Given the description of an element on the screen output the (x, y) to click on. 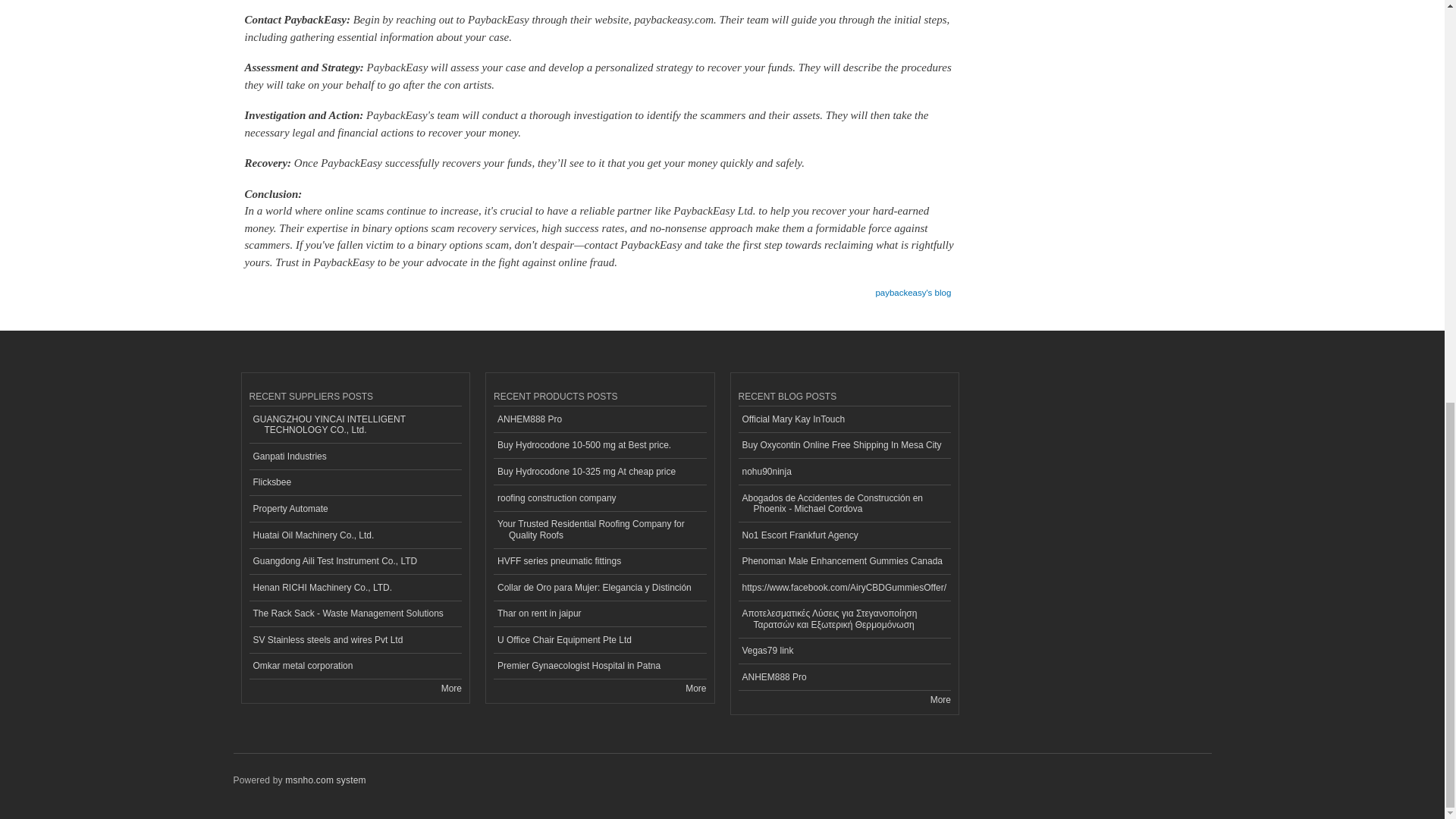
GUANGZHOU YINCAI INTELLIGENT TECHNOLOGY CO., Ltd. (354, 424)
ANHEM888 Pro (599, 419)
Read paybackeasy's latest blog entries. (912, 287)
Buy Hydrocodone 10-325 mg At cheap price (599, 471)
Your Trusted Residential Roofing Company for Quality Roofs (599, 529)
Henan RICHI Machinery Co., LTD. (354, 587)
SV Stainless steels and wires Pvt Ltd (354, 640)
The Rack Sack - Waste Management Solutions (354, 614)
Buy Hydrocodone 10-500 mg at Best price. (599, 446)
Read the latest blog entries. (940, 699)
